Given the description of an element on the screen output the (x, y) to click on. 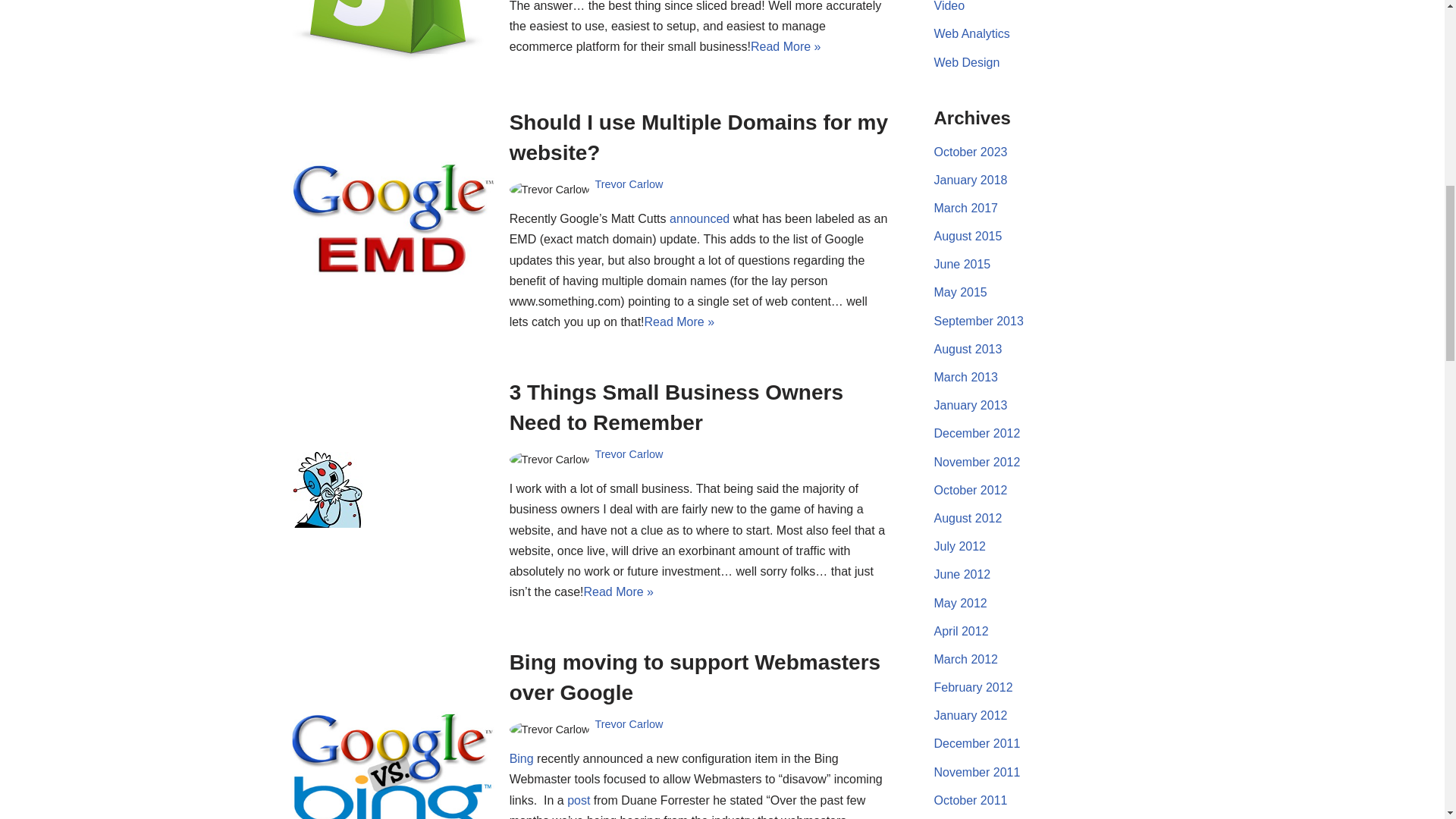
3 Things Small Business Owners Need to Remember (391, 489)
Posts by Trevor Carlow (628, 453)
Posts by Trevor Carlow (628, 184)
Bing moving to support Webmasters over Google (391, 765)
Web Pro News Matt Cutts EMD Announcement (699, 218)
Posts by Trevor Carlow (628, 724)
Bing (521, 758)
Why is Shopify great for Small Business ECommerce? (391, 31)
Should I use Multiple Domains for my website? (391, 220)
